Given the description of an element on the screen output the (x, y) to click on. 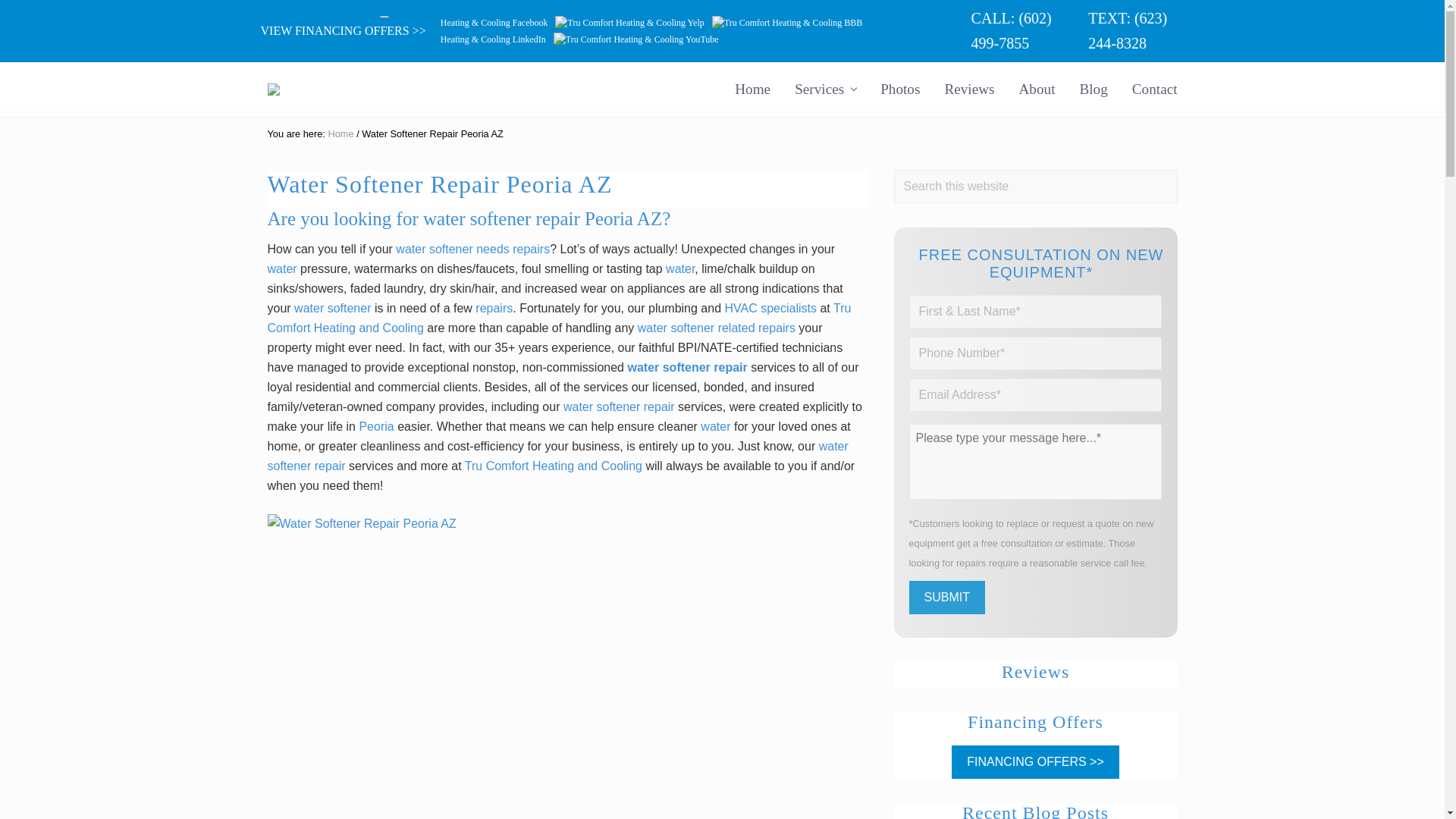
Reviews (968, 88)
Blog (1093, 88)
About (1037, 88)
Services (825, 88)
Home (751, 88)
Submit (946, 597)
Contact (1154, 88)
Photos (899, 88)
